Given the description of an element on the screen output the (x, y) to click on. 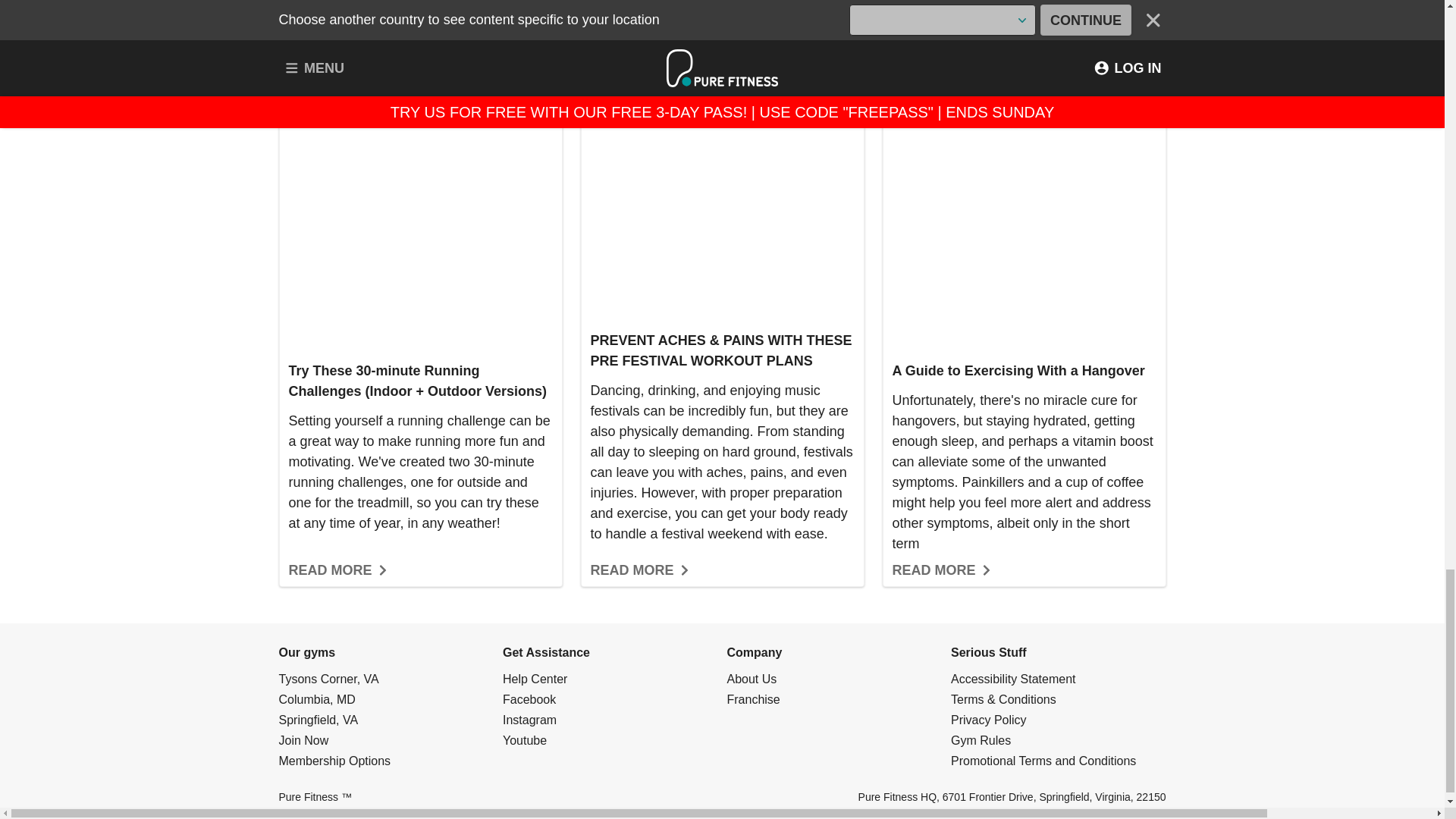
READ MORE (639, 570)
READ MORE (338, 570)
Springfield, VA (318, 719)
Columbia, MD (317, 698)
Tysons Corner, VA (328, 678)
READ MORE (941, 570)
